Given the description of an element on the screen output the (x, y) to click on. 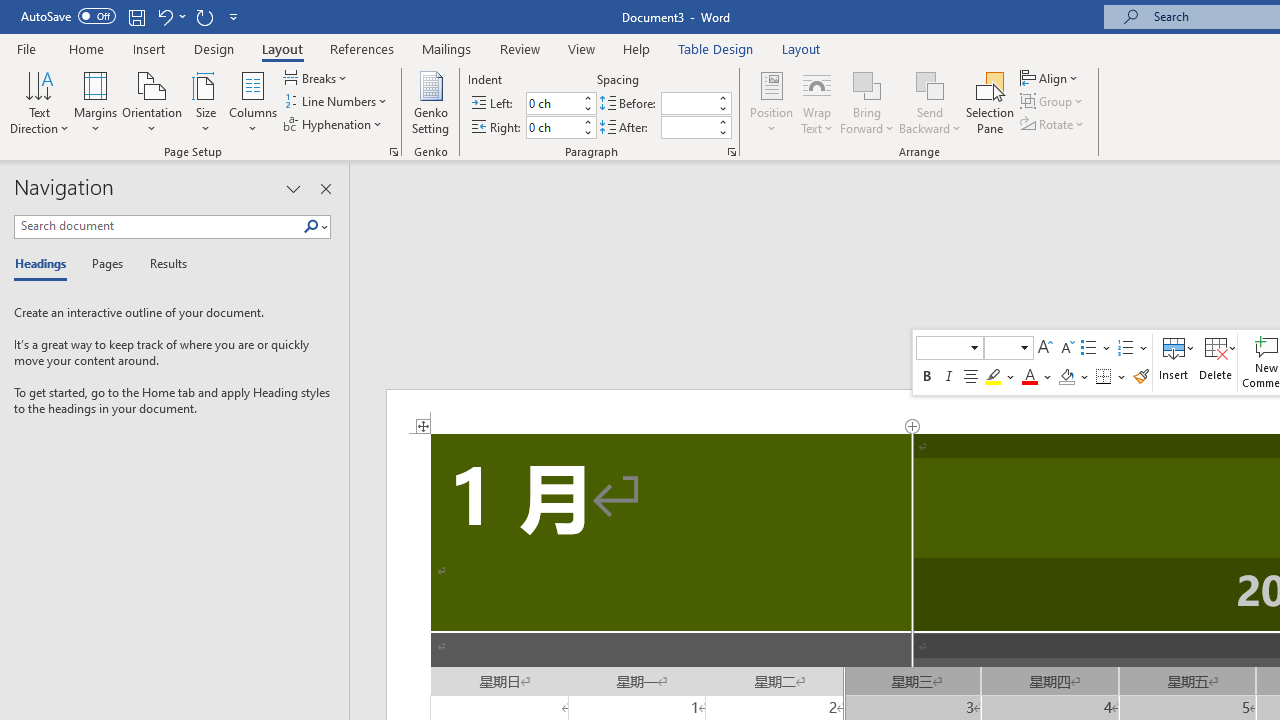
Line Numbers (337, 101)
Breaks (317, 78)
Spacing After (687, 127)
Position (771, 102)
Genko Setting... (430, 102)
